Given the description of an element on the screen output the (x, y) to click on. 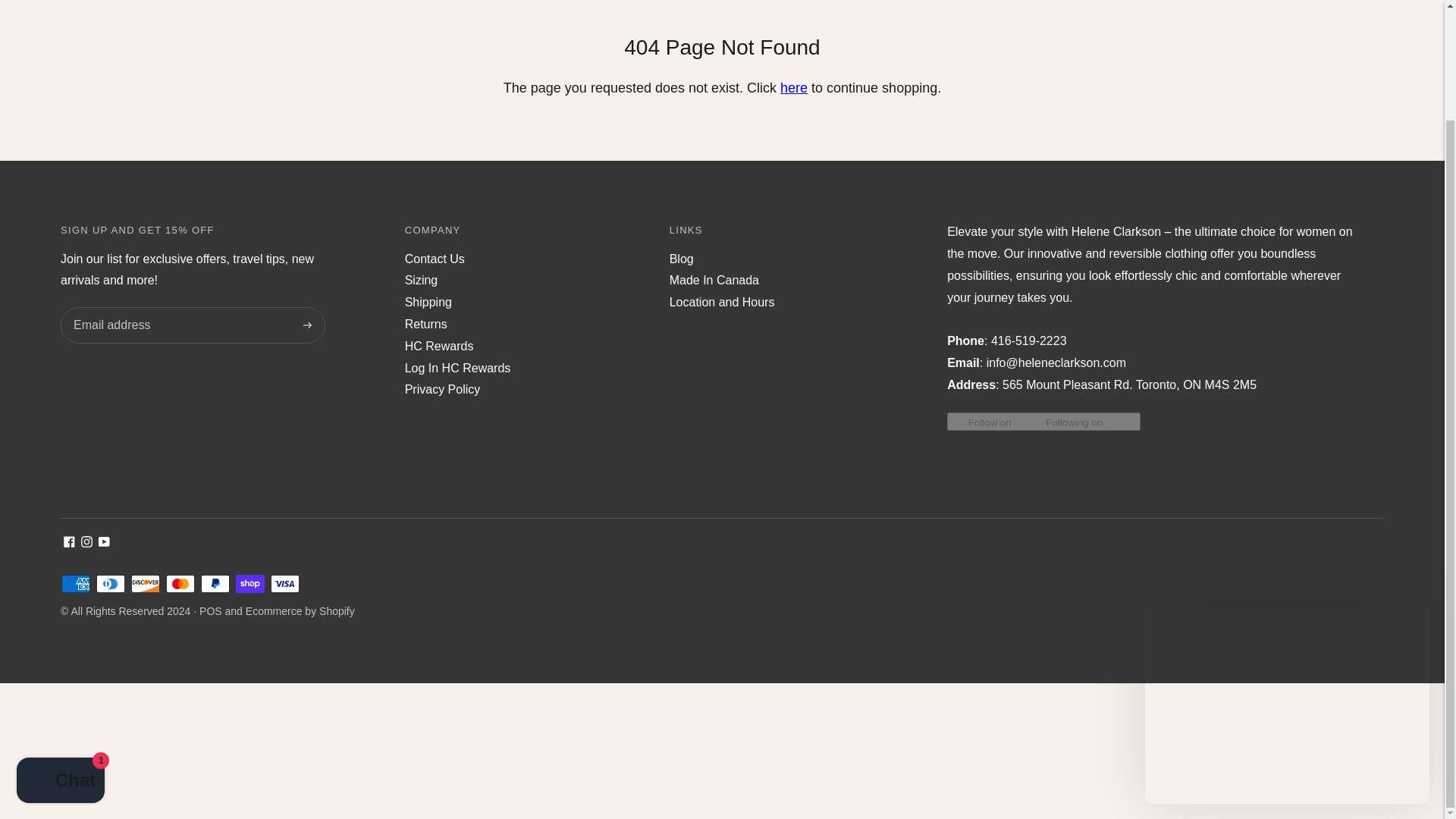
Smile.io Rewards Program Prompt (1286, 575)
Shopify online store chat (60, 652)
